Given the description of an element on the screen output the (x, y) to click on. 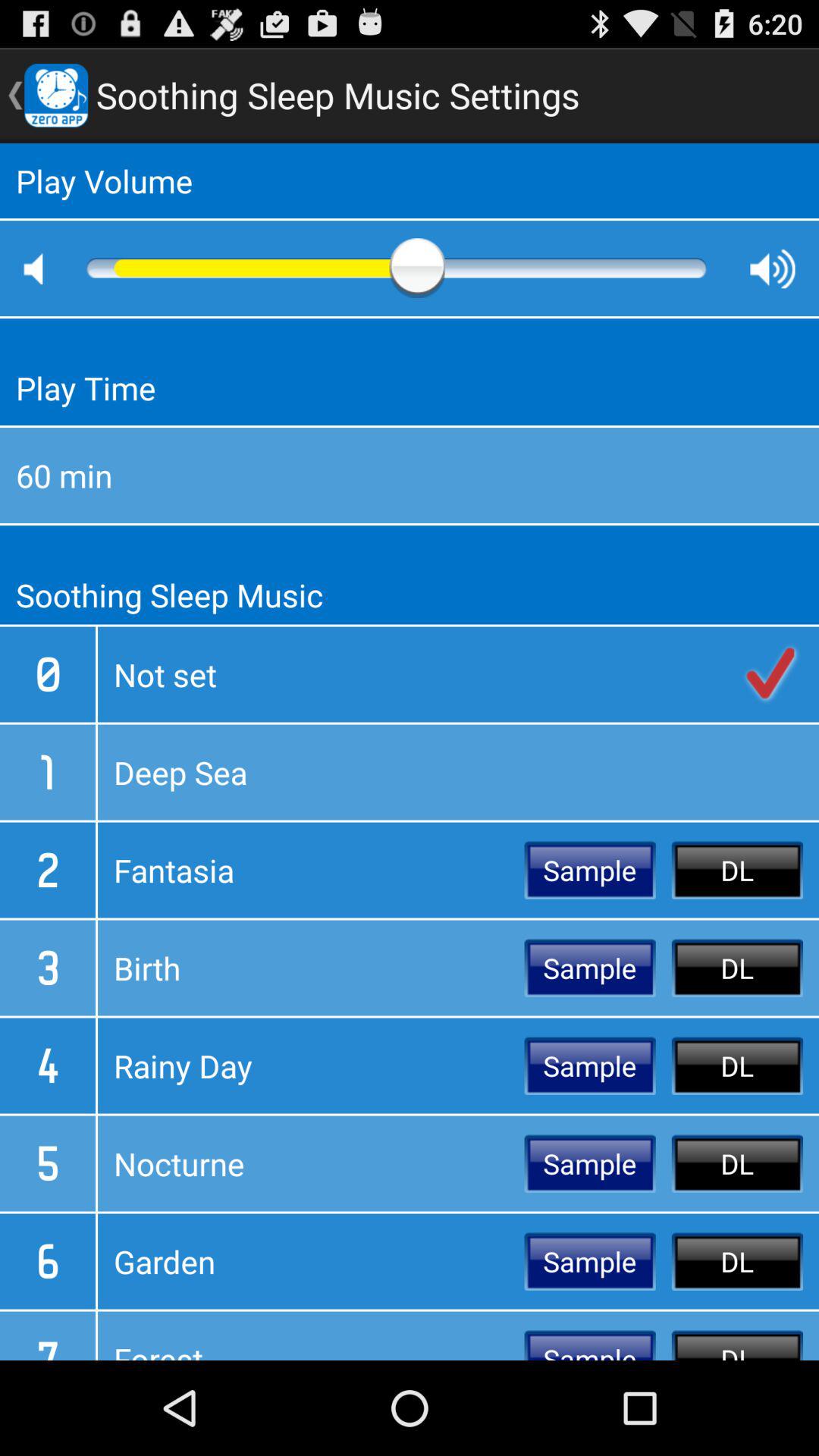
choose icon next to sample icon (310, 967)
